Given the description of an element on the screen output the (x, y) to click on. 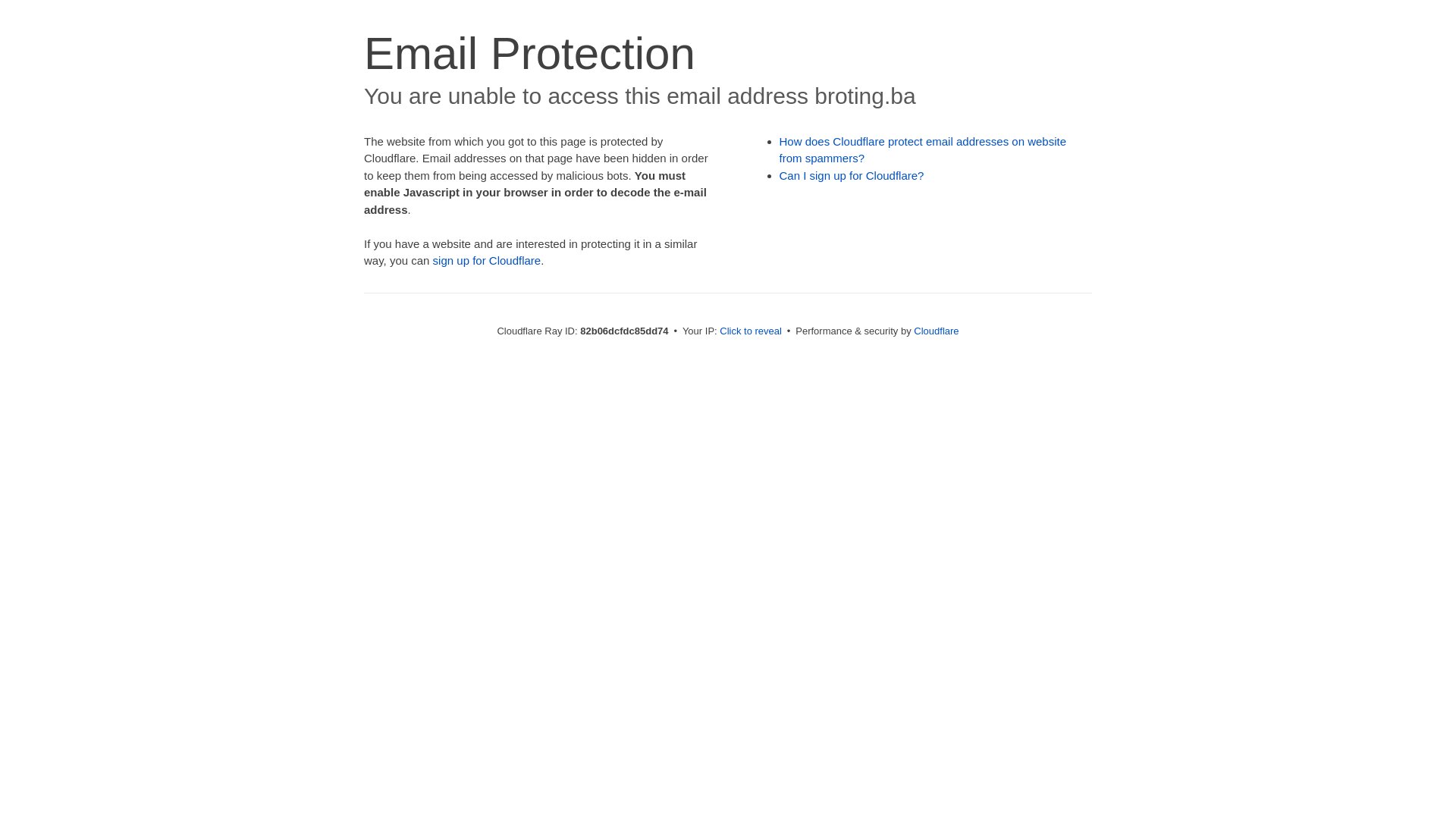
Cloudflare Element type: text (935, 330)
Click to reveal Element type: text (750, 330)
Can I sign up for Cloudflare? Element type: text (851, 175)
sign up for Cloudflare Element type: text (487, 260)
